Given the description of an element on the screen output the (x, y) to click on. 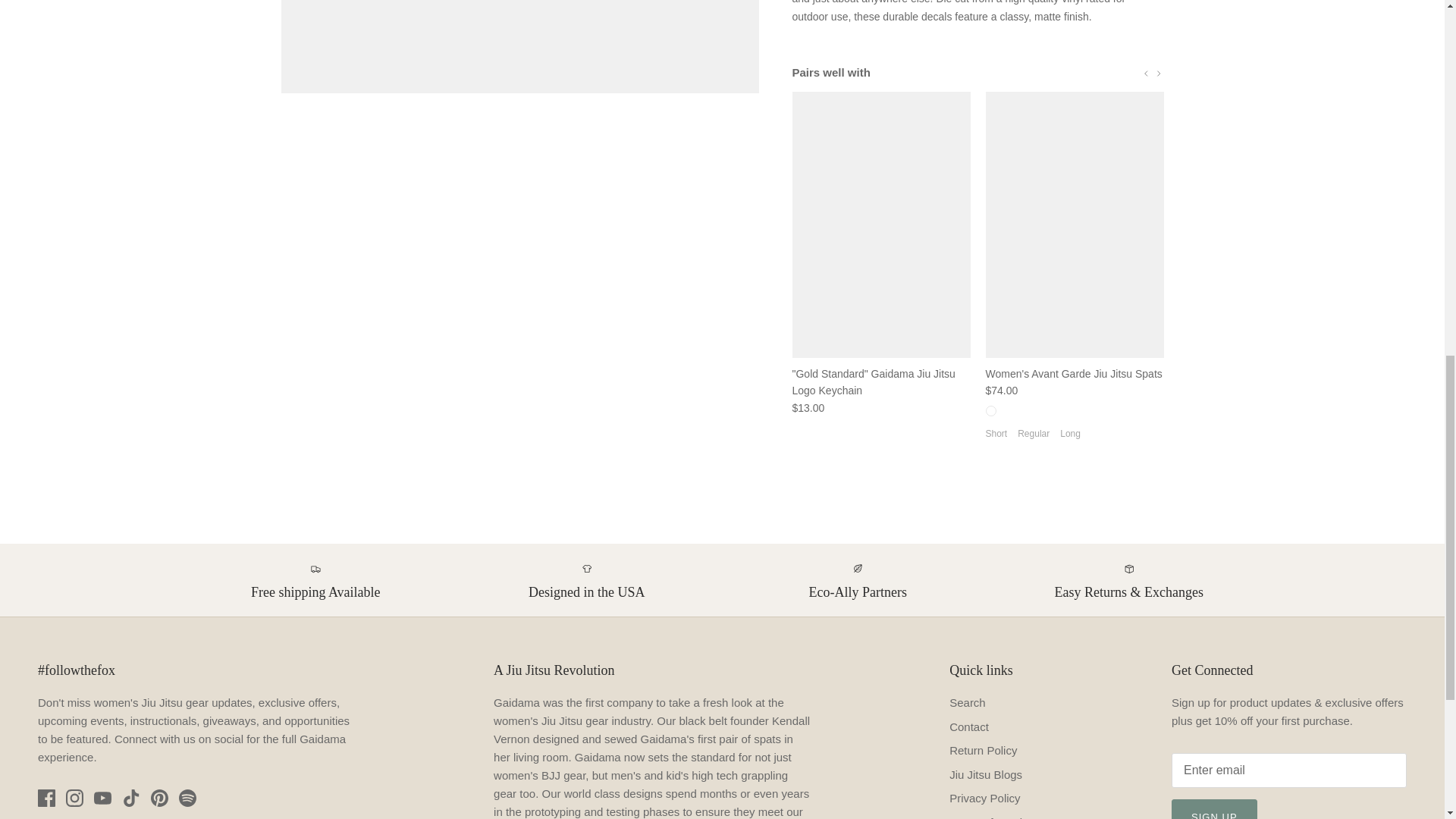
Facebook (46, 797)
